Given the description of an element on the screen output the (x, y) to click on. 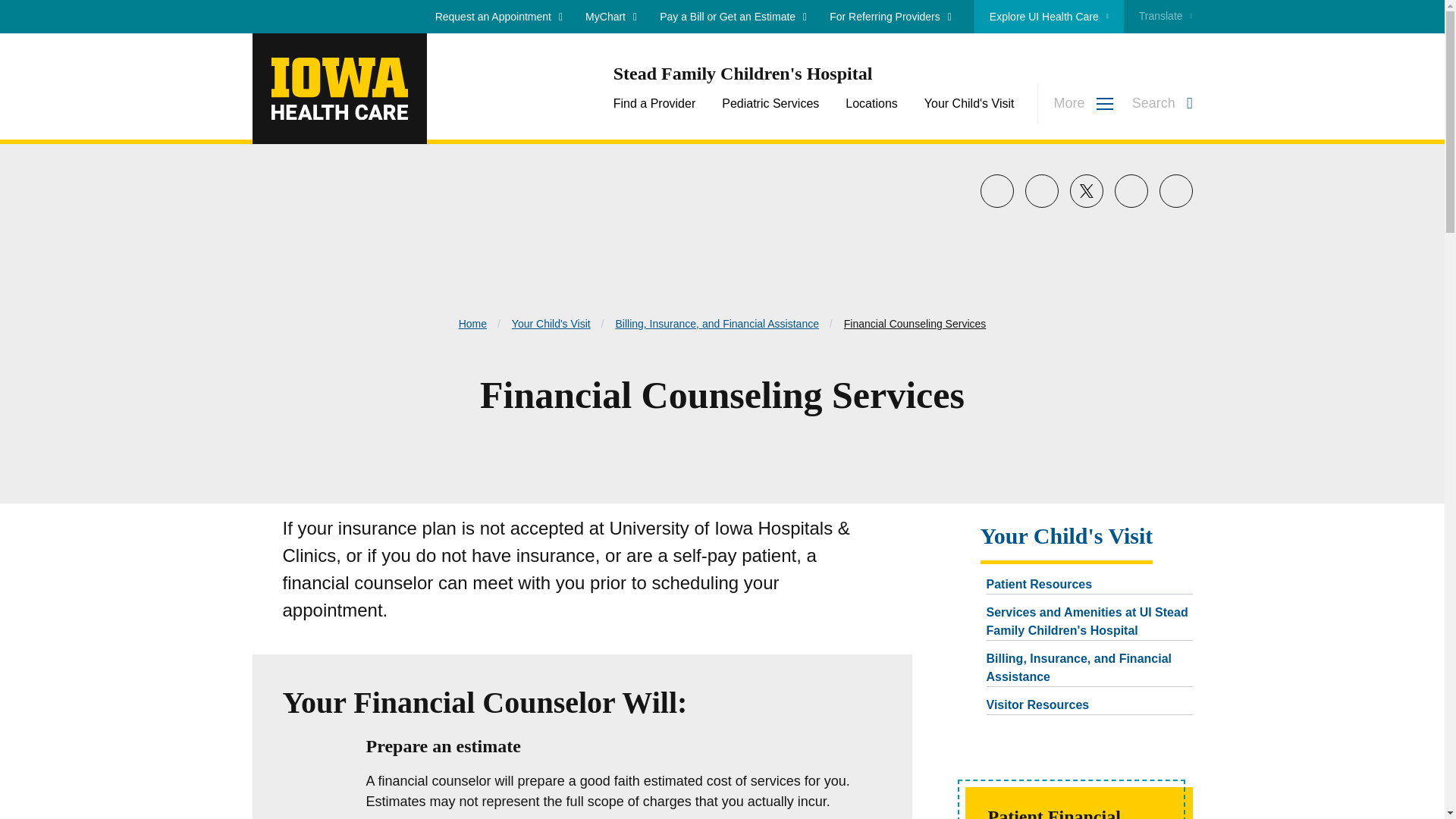
More (1074, 103)
Home (338, 88)
Pay a Bill or Get an Estimate (732, 16)
Your Child's Visit (969, 103)
Translate (1158, 16)
MyChart (611, 16)
For Referring Providers (890, 16)
Explore UI Health Care (1049, 16)
Locations (871, 103)
Pediatric Services (770, 103)
